Given the description of an element on the screen output the (x, y) to click on. 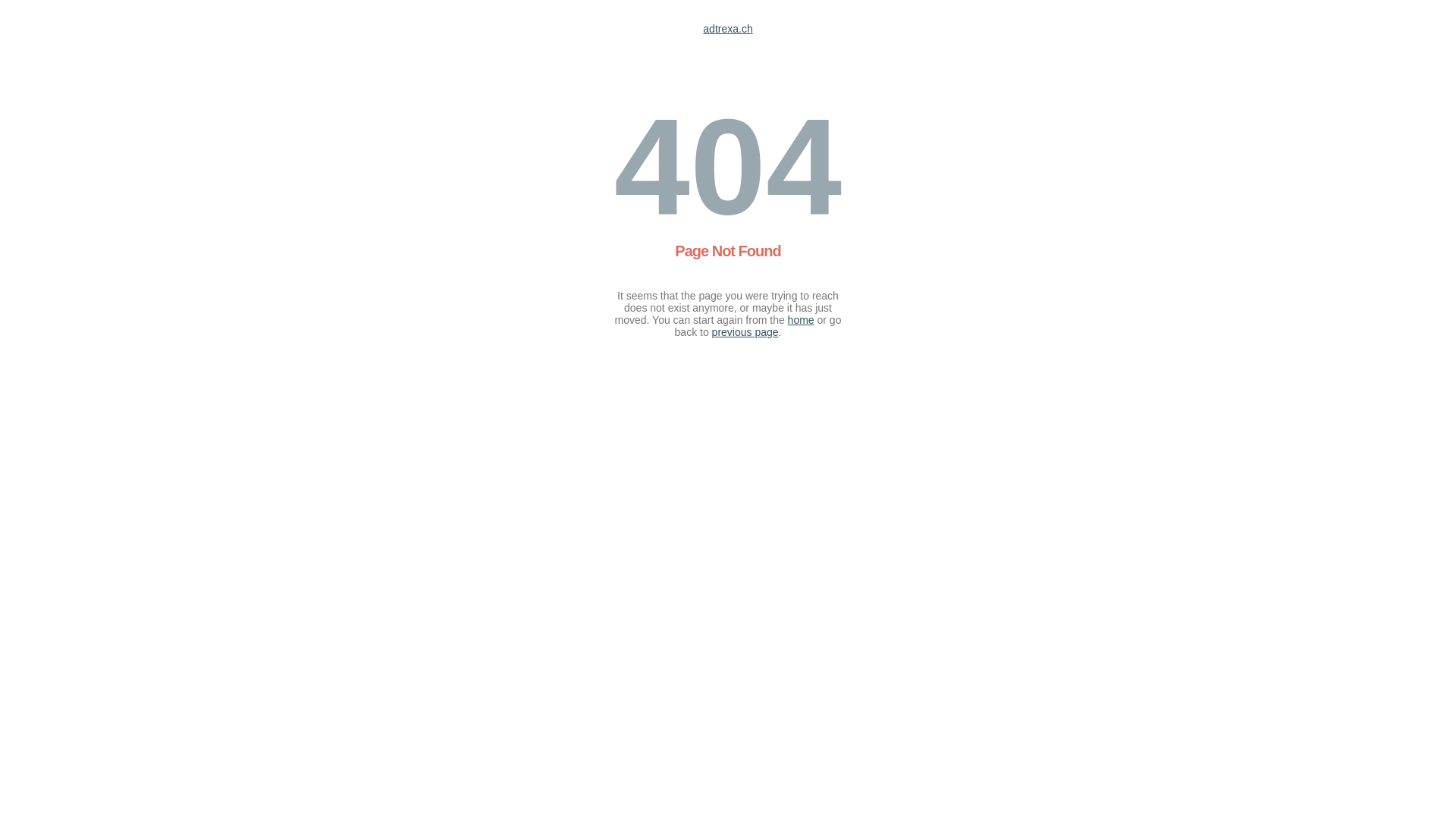
home Element type: text (800, 319)
adtrexa.ch Element type: text (727, 28)
previous page Element type: text (745, 332)
